Given the description of an element on the screen output the (x, y) to click on. 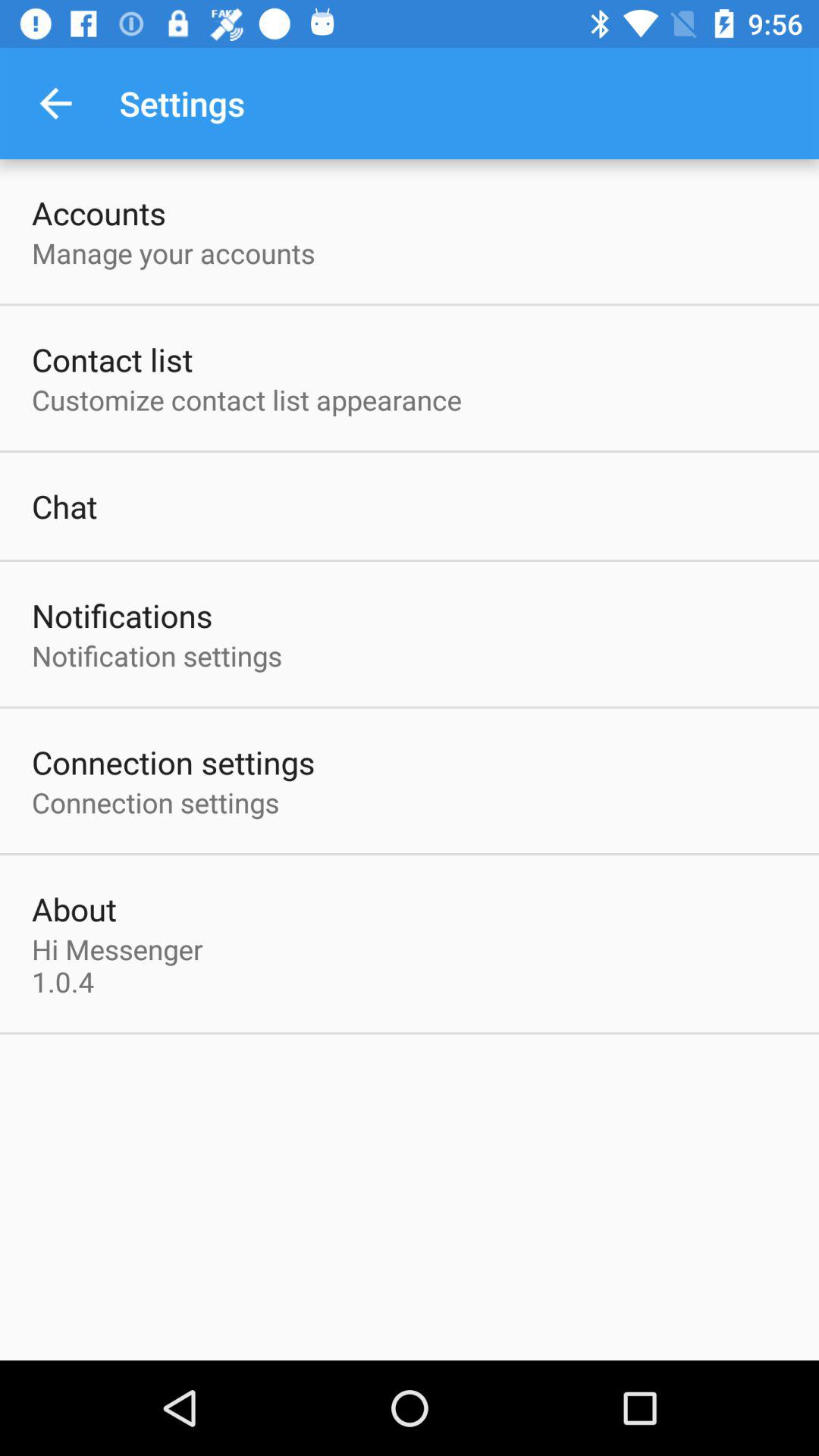
turn off chat item (64, 505)
